Given the description of an element on the screen output the (x, y) to click on. 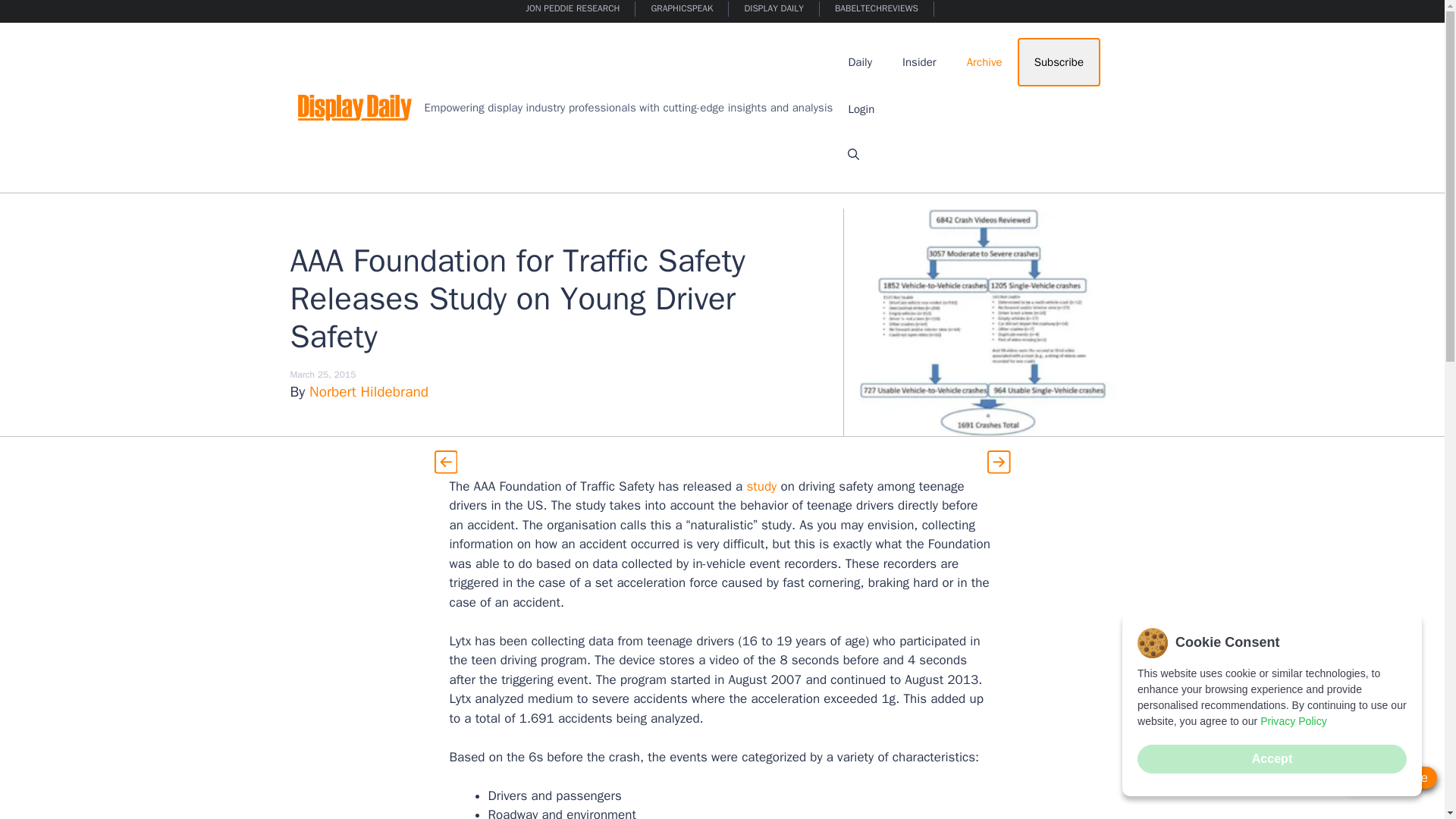
Login (860, 108)
study (760, 486)
DISPLAY DAILY (773, 8)
subscribe (1390, 776)
Insider (919, 62)
Norbert Hildebrand (368, 392)
BABELTECHREVIEWS (876, 8)
Subscribe (1059, 62)
GRAPHICSPEAK (681, 8)
subscribe (1390, 776)
